Given the description of an element on the screen output the (x, y) to click on. 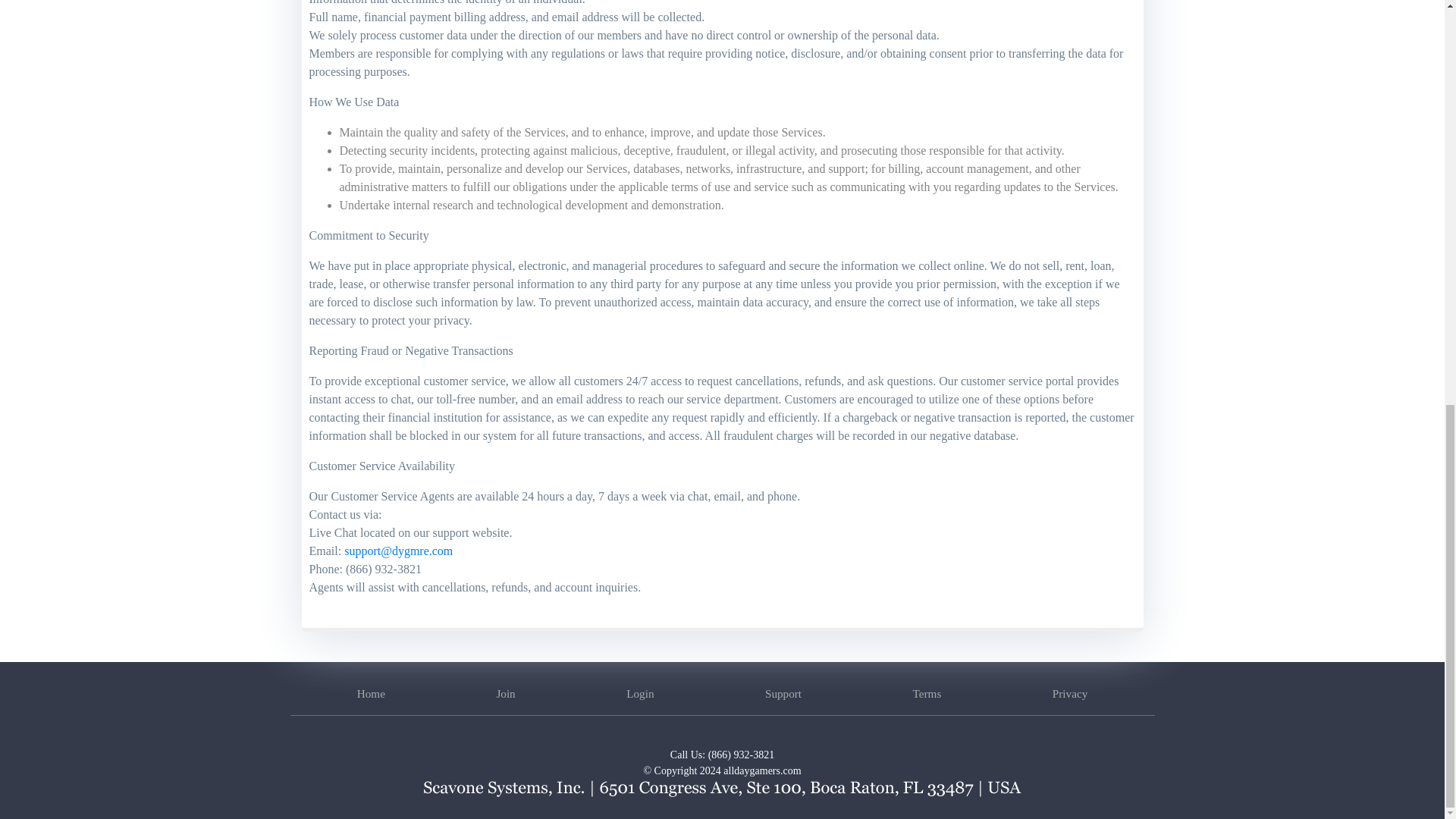
Home (370, 693)
Login (639, 693)
Join (505, 693)
Terms (927, 693)
Support (783, 693)
Privacy (1069, 693)
